Given the description of an element on the screen output the (x, y) to click on. 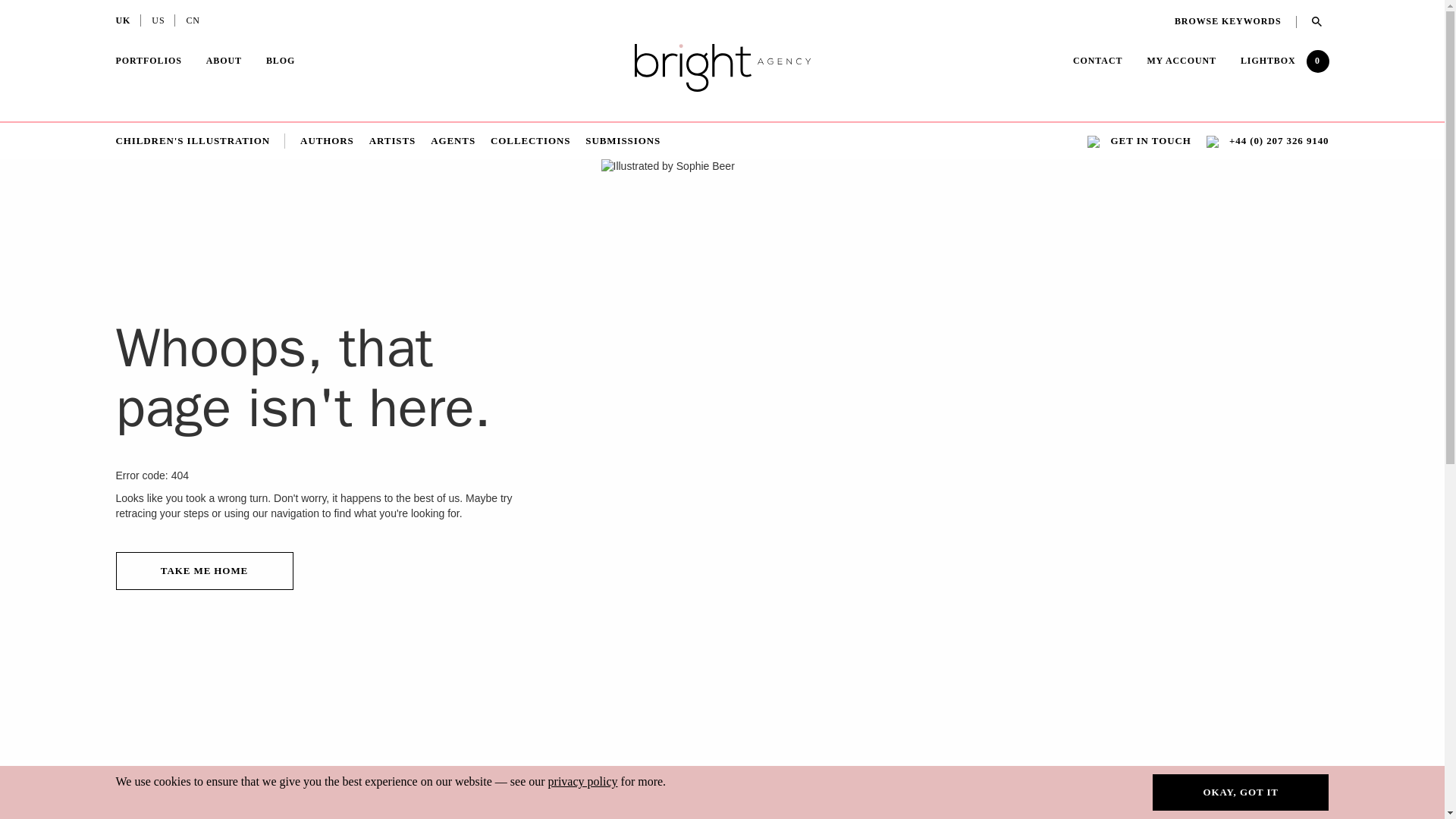
UK (123, 22)
CN (192, 22)
US (157, 22)
CONTACT (1097, 62)
MY ACCOUNT (1181, 60)
ABOUT (223, 62)
Search (1313, 21)
PORTFOLIOS (147, 62)
BROWSE KEYWORDS (1235, 21)
BLOG (280, 60)
